Given the description of an element on the screen output the (x, y) to click on. 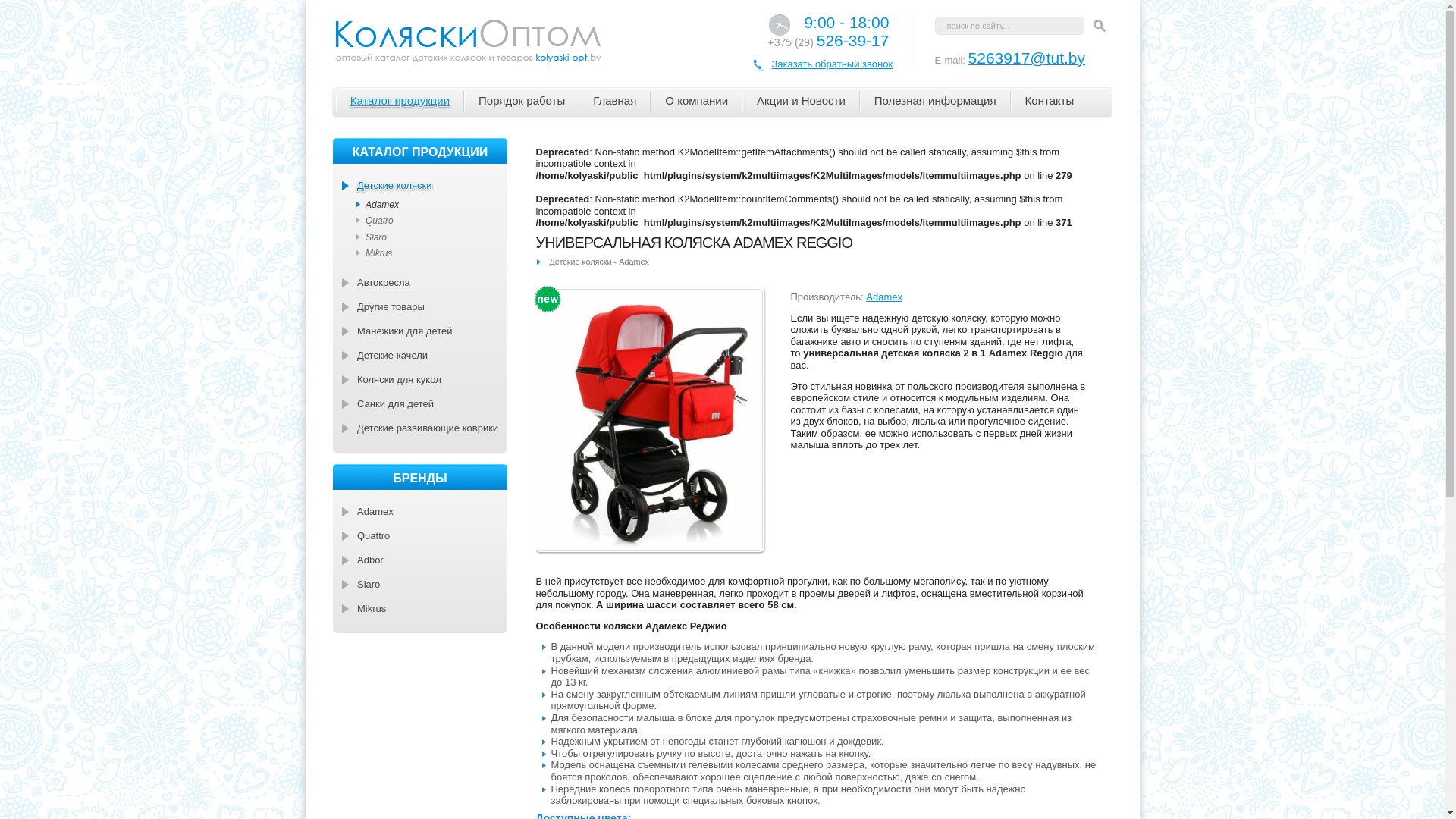
Adbor Element type: text (423, 559)
  Element type: text (1099, 25)
Mikrus Element type: text (433, 252)
Quattro Element type: text (423, 535)
Adamex Element type: text (423, 511)
5263917@tut.by Element type: text (1026, 58)
Adamex Element type: text (433, 204)
Mikrus Element type: text (423, 608)
Adamex Element type: text (884, 296)
Quatro Element type: text (433, 220)
Slaro Element type: text (433, 237)
Slaro Element type: text (423, 583)
